Given the description of an element on the screen output the (x, y) to click on. 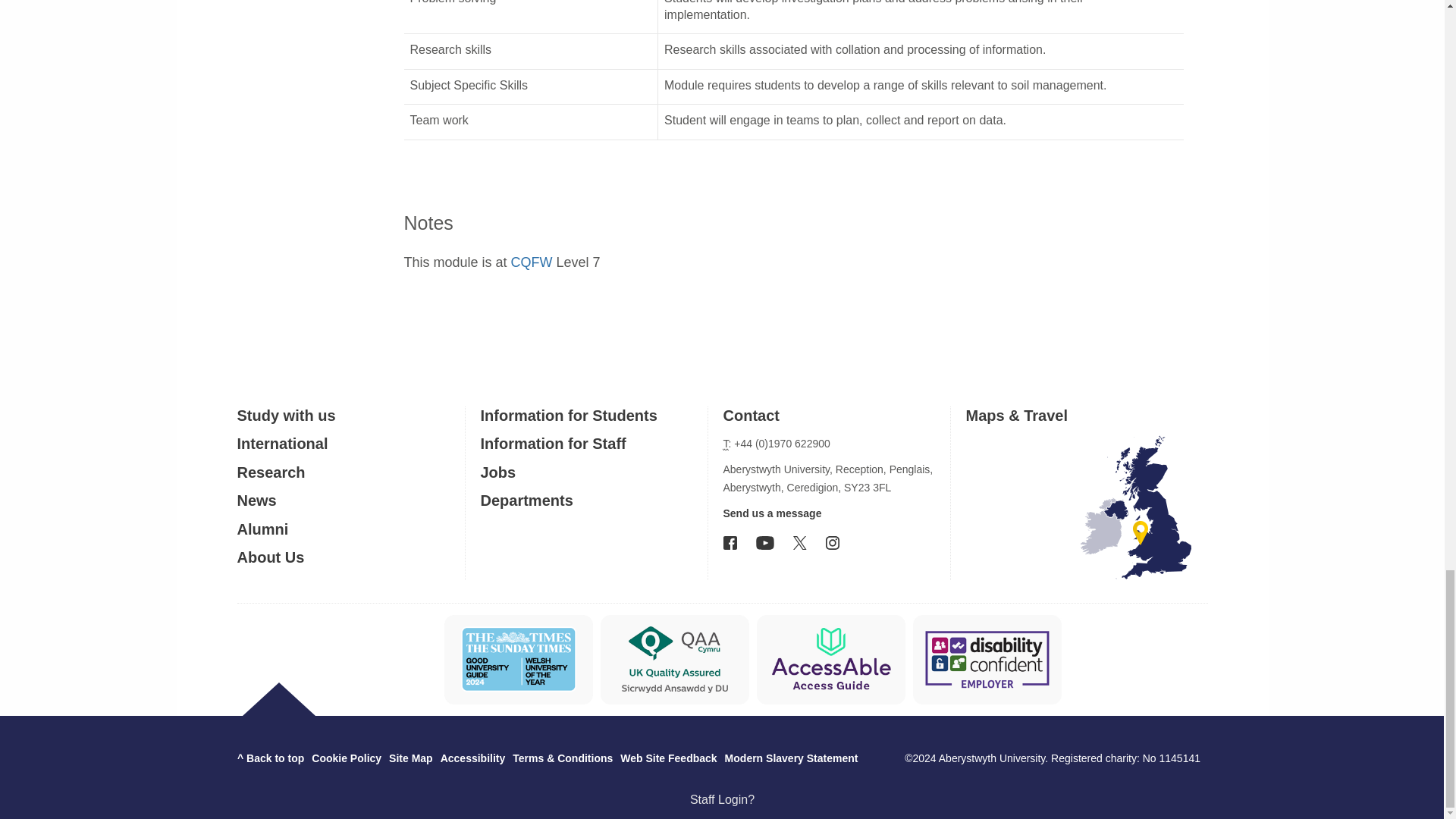
Accessibility information (473, 758)
Modern Slavery Statement (792, 758)
A text map of this web site. (410, 758)
Cookie Policy (346, 758)
Send us feedback on this web site. (668, 758)
